Given the description of an element on the screen output the (x, y) to click on. 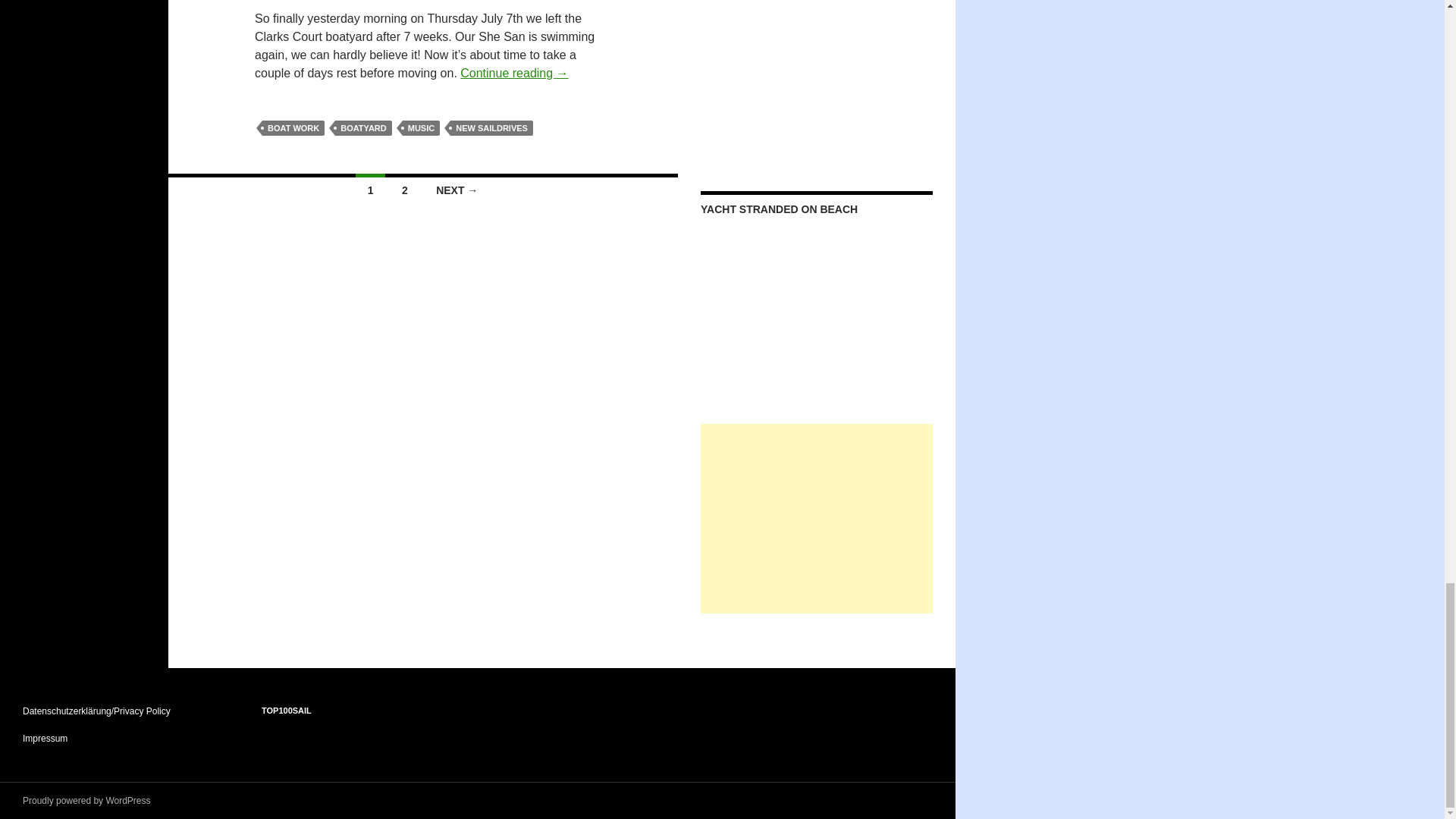
Advertisement (816, 518)
